Given the description of an element on the screen output the (x, y) to click on. 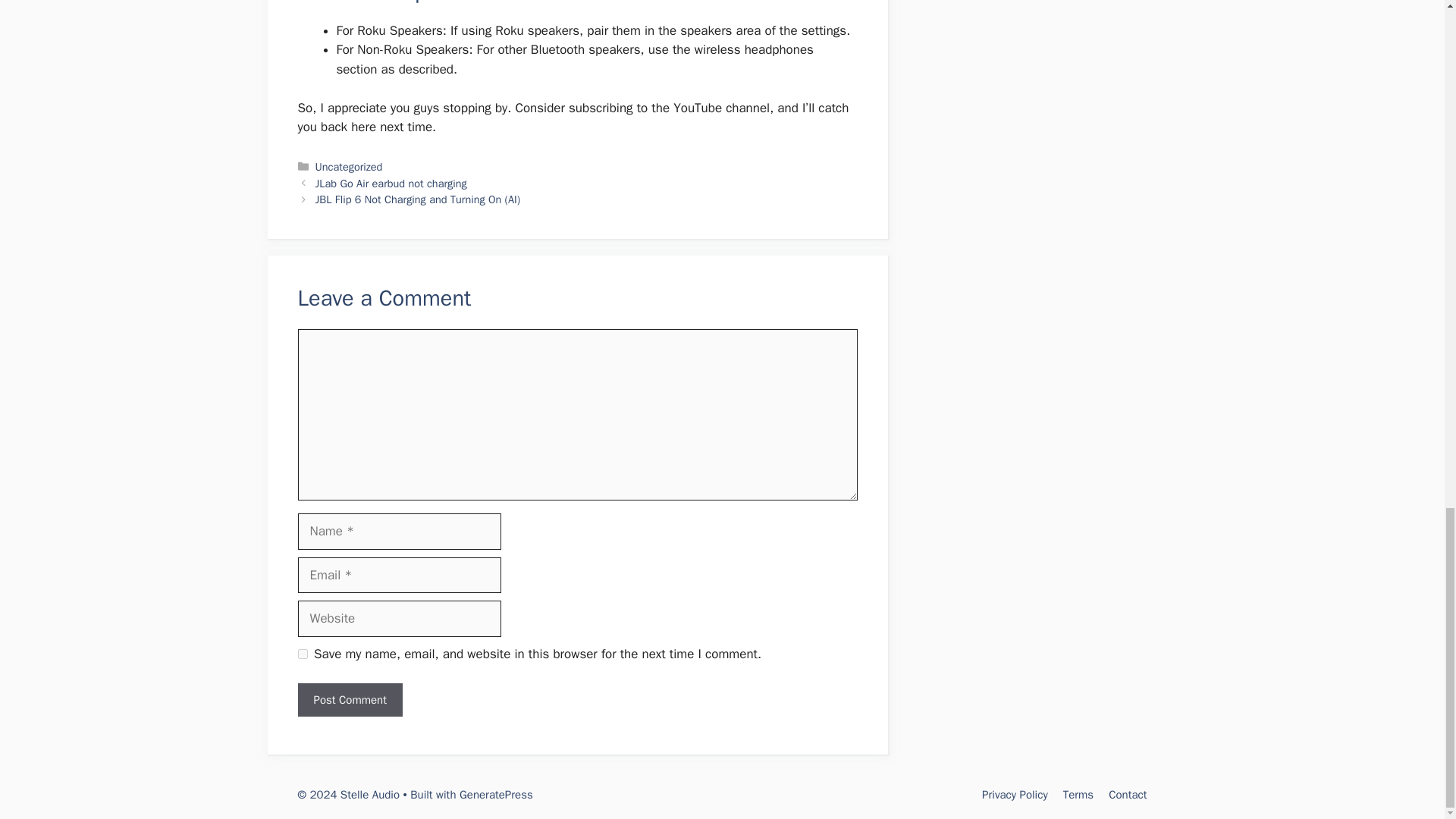
JLab Go Air earbud not charging (391, 183)
Post Comment (349, 700)
Terms (1077, 794)
Contact (1127, 794)
yes (302, 654)
Post Comment (349, 700)
Uncategorized (348, 166)
Privacy Policy (1014, 794)
GeneratePress (496, 794)
